Given the description of an element on the screen output the (x, y) to click on. 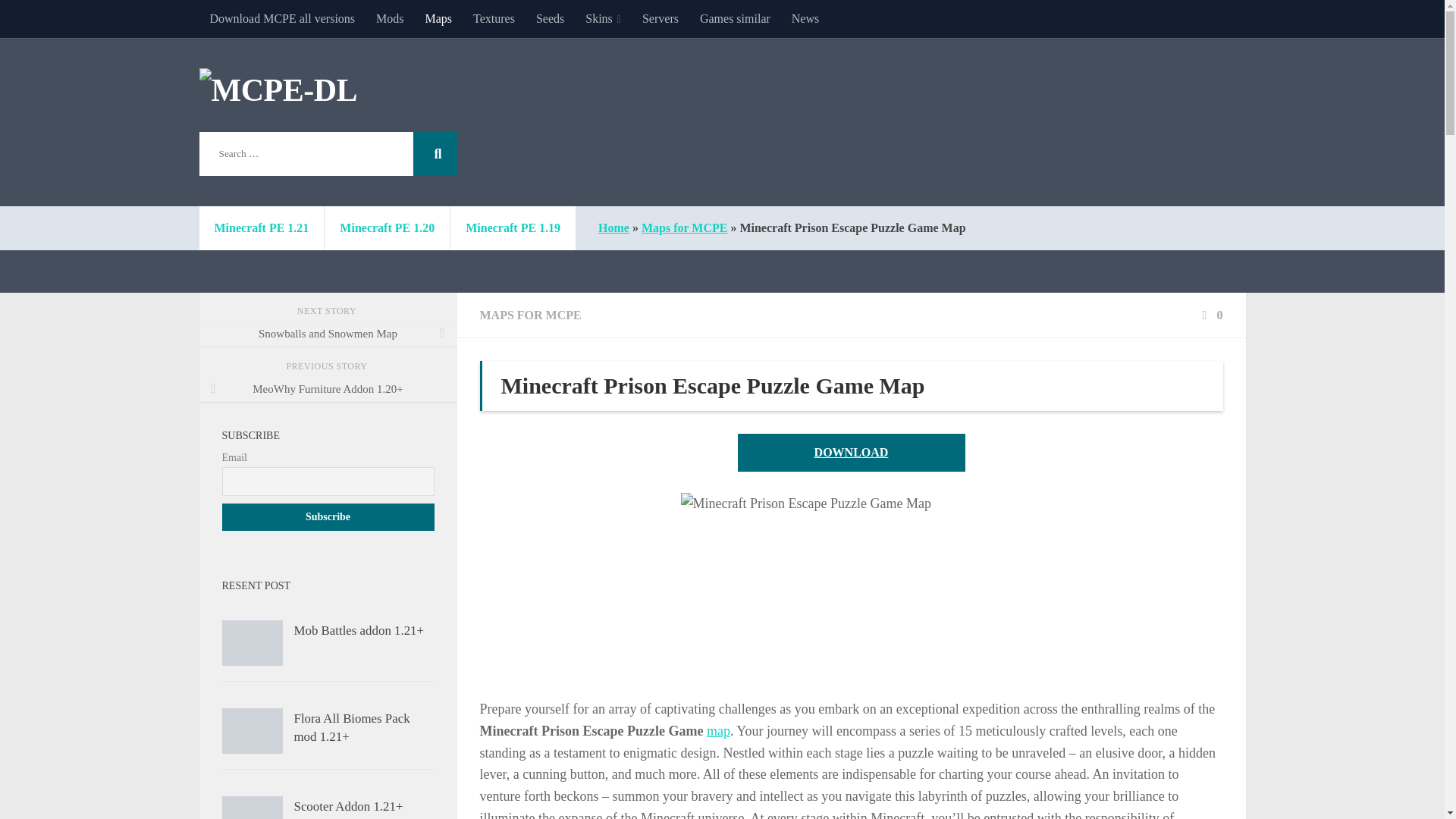
News (804, 18)
Minecraft PE 1.19 (512, 228)
MAPS FOR MCPE (529, 314)
Search (434, 153)
DOWNLOAD (849, 452)
0 (1210, 314)
Skip to content (59, 20)
DOWNLOAD (849, 452)
Home (613, 227)
Skins (603, 18)
